Given the description of an element on the screen output the (x, y) to click on. 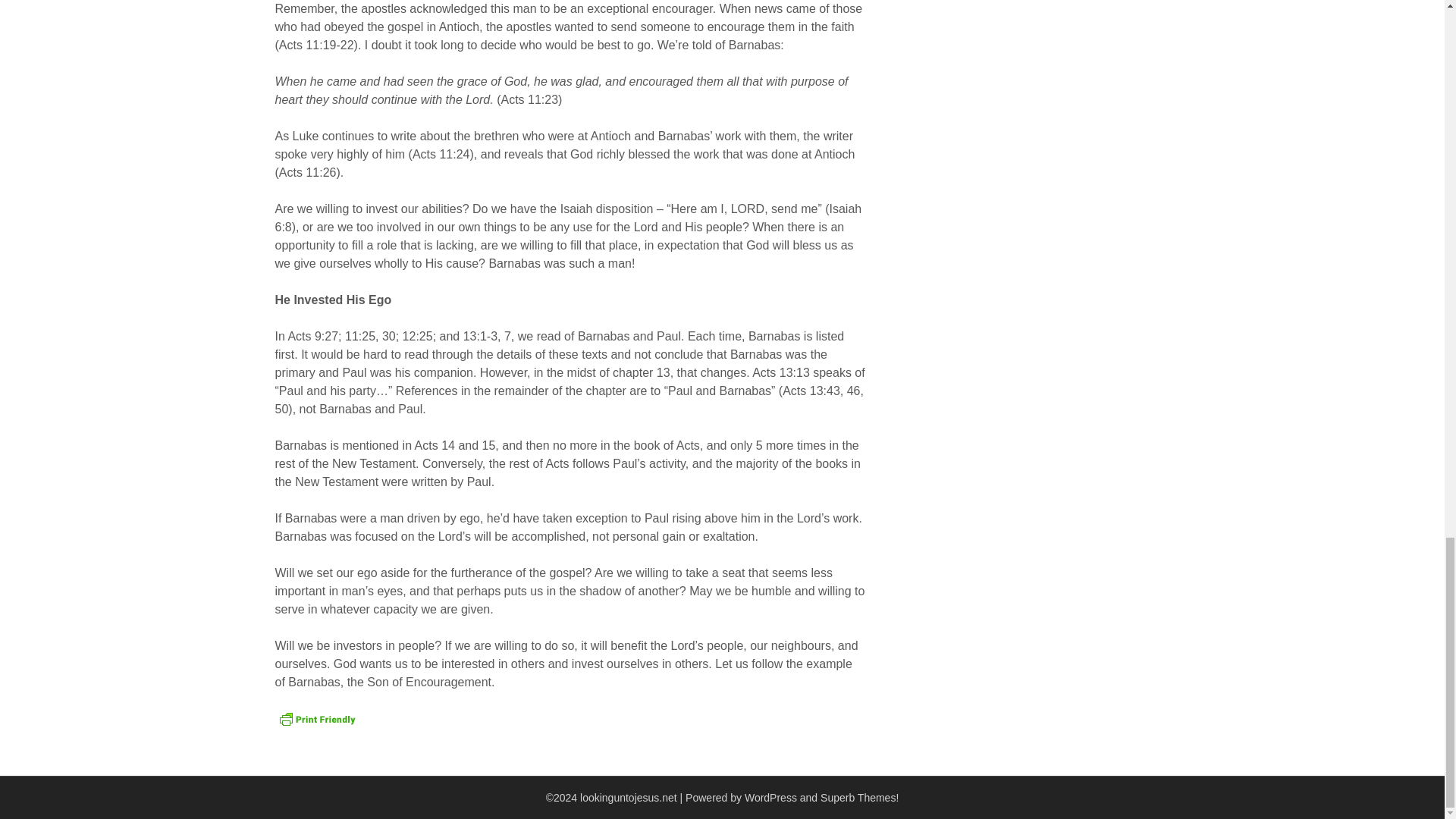
Superb Themes! (859, 797)
